Given the description of an element on the screen output the (x, y) to click on. 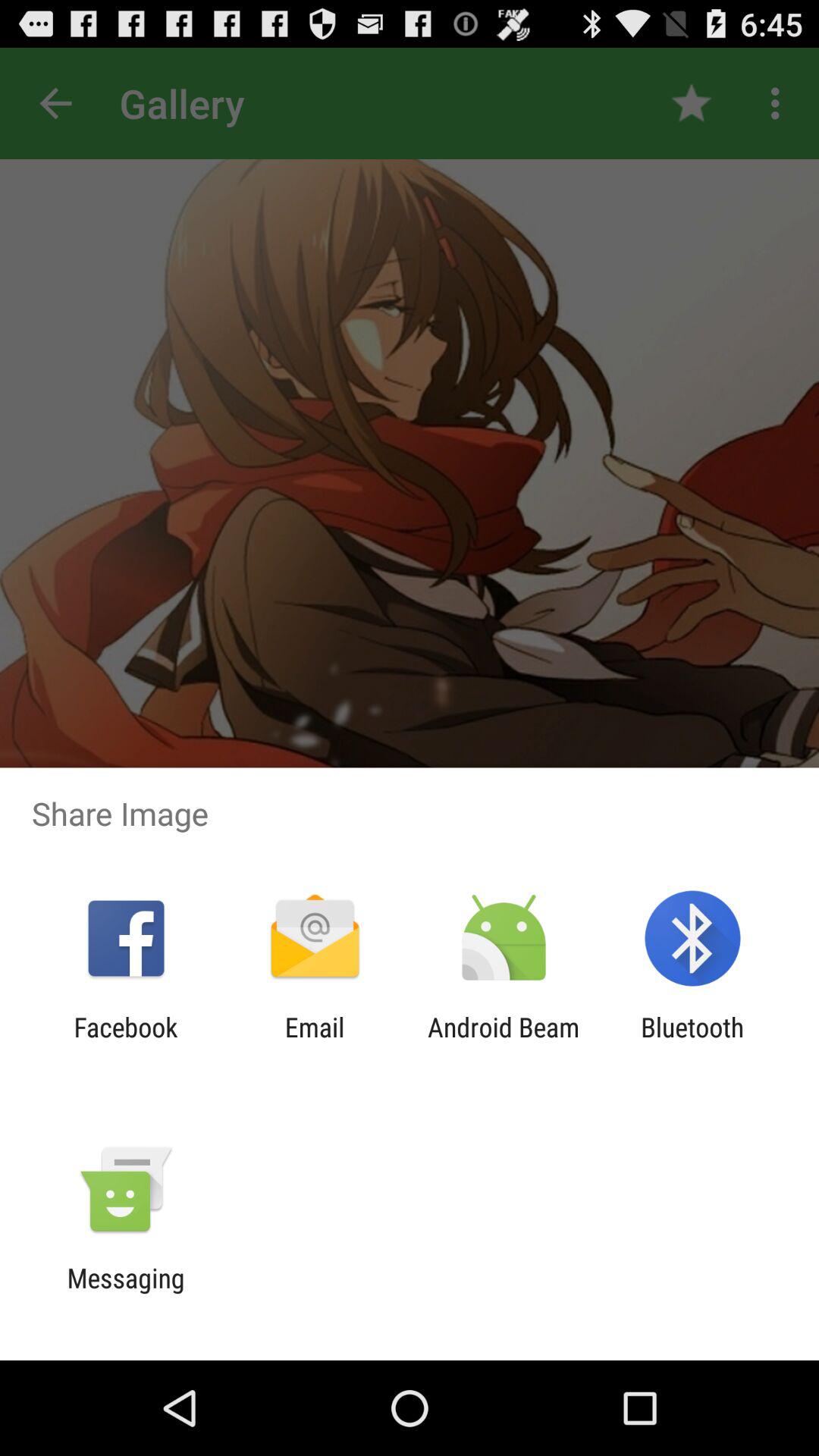
tap icon next to the android beam (314, 1042)
